Given the description of an element on the screen output the (x, y) to click on. 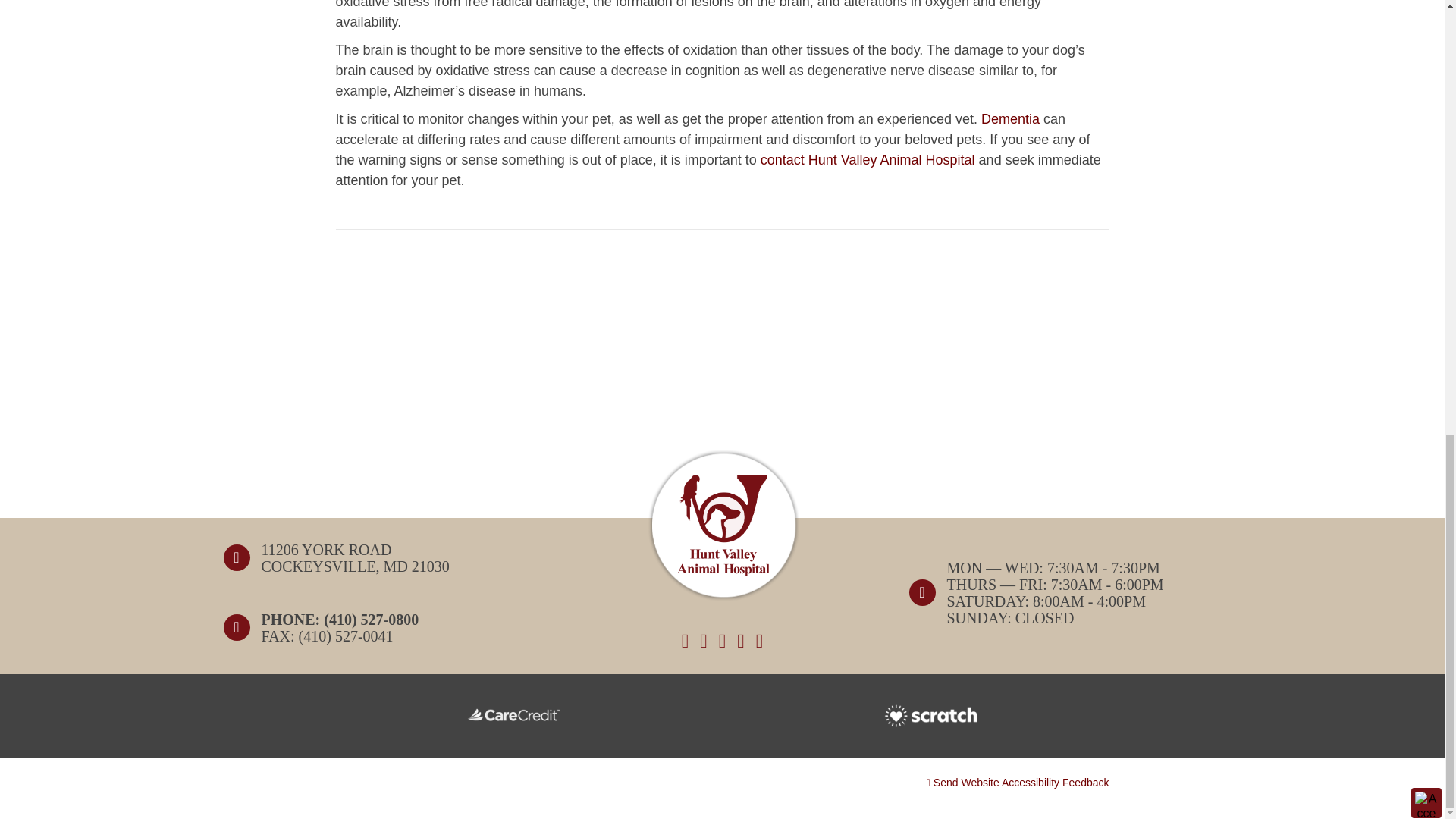
care-credit-logo-white (512, 715)
scratchpay-white (930, 715)
